Given the description of an element on the screen output the (x, y) to click on. 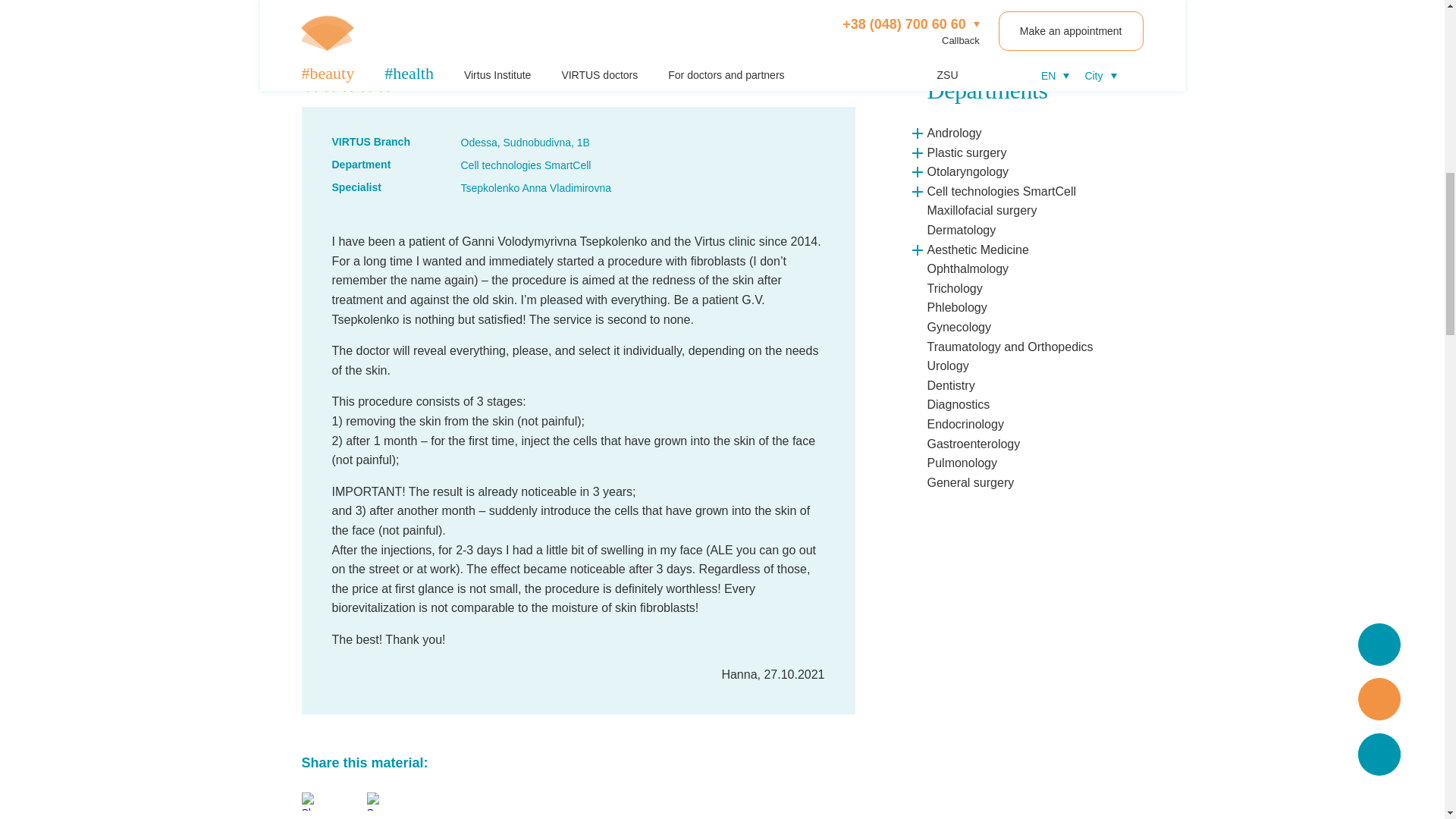
Share to facebook (310, 801)
Send in telegram (376, 801)
